Given the description of an element on the screen output the (x, y) to click on. 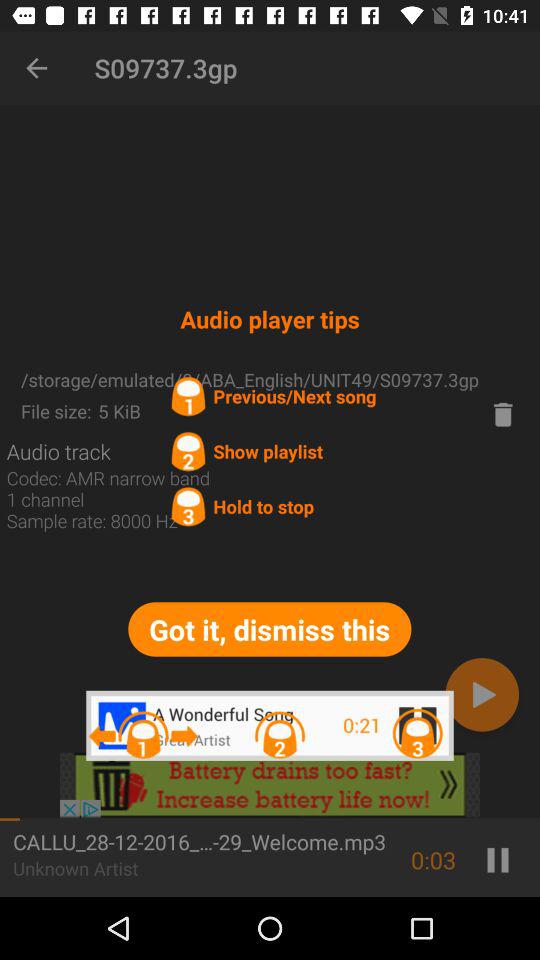
delet song button (503, 414)
